Given the description of an element on the screen output the (x, y) to click on. 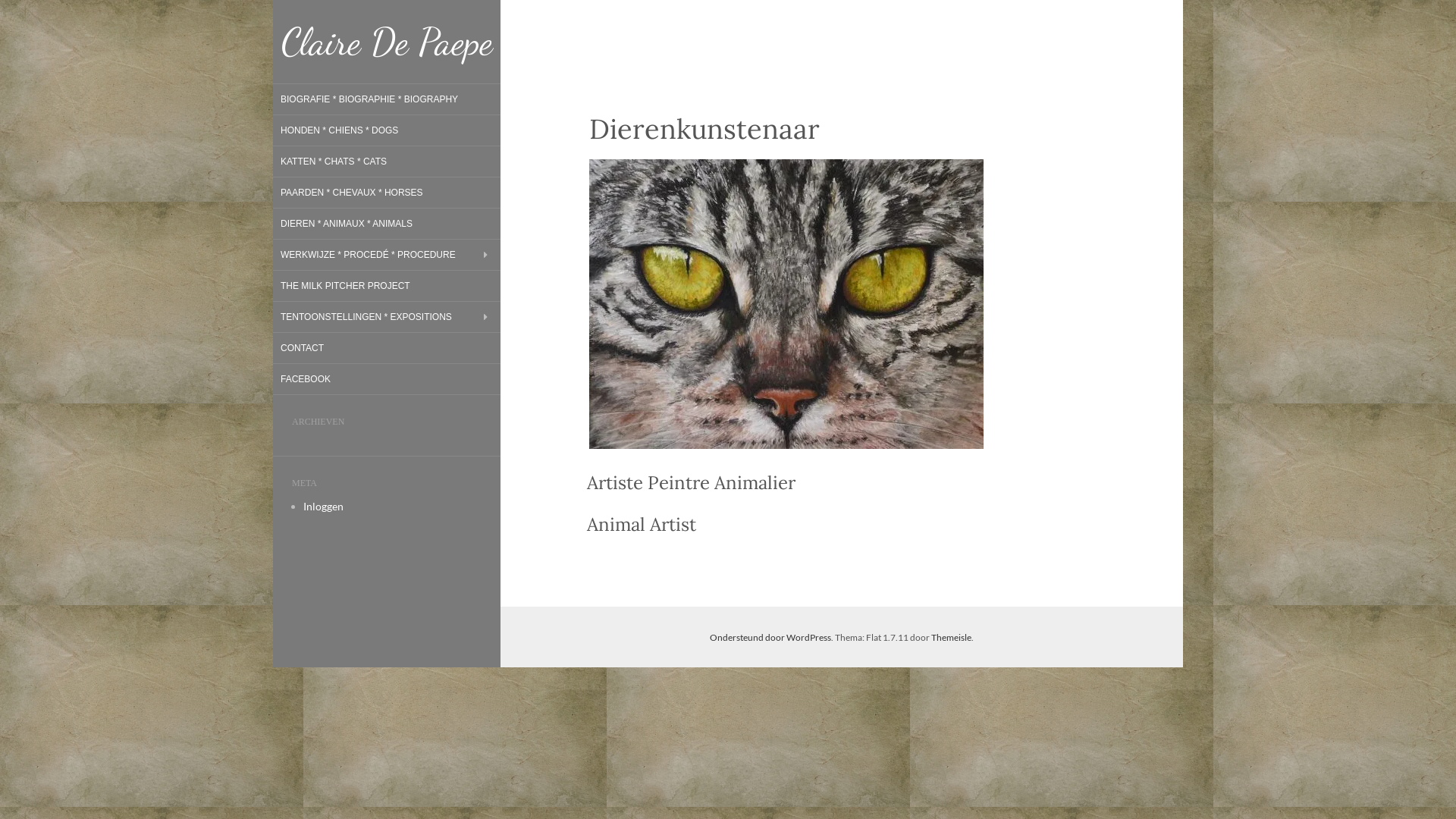
BIOGRAFIE * BIOGRAPHIE * BIOGRAPHY Element type: text (369, 99)
THE MILK PITCHER PROJECT Element type: text (345, 285)
Claire De Paepe Element type: text (386, 41)
CONTACT Element type: text (302, 347)
FACEBOOK Element type: text (305, 379)
Inloggen Element type: text (323, 505)
TENTOONSTELLINGEN * EXPOSITIONS Element type: text (366, 316)
KATTEN * CHATS * CATS Element type: text (333, 161)
          Element type: text (775, 301)
Themeisle Element type: text (951, 637)
Ondersteund door WordPress Element type: text (770, 637)
PAARDEN * CHEVAUX * HORSES Element type: text (351, 192)
HONDEN * CHIENS * DOGS Element type: text (339, 130)
DIEREN * ANIMAUX * ANIMALS Element type: text (346, 223)
